Given the description of an element on the screen output the (x, y) to click on. 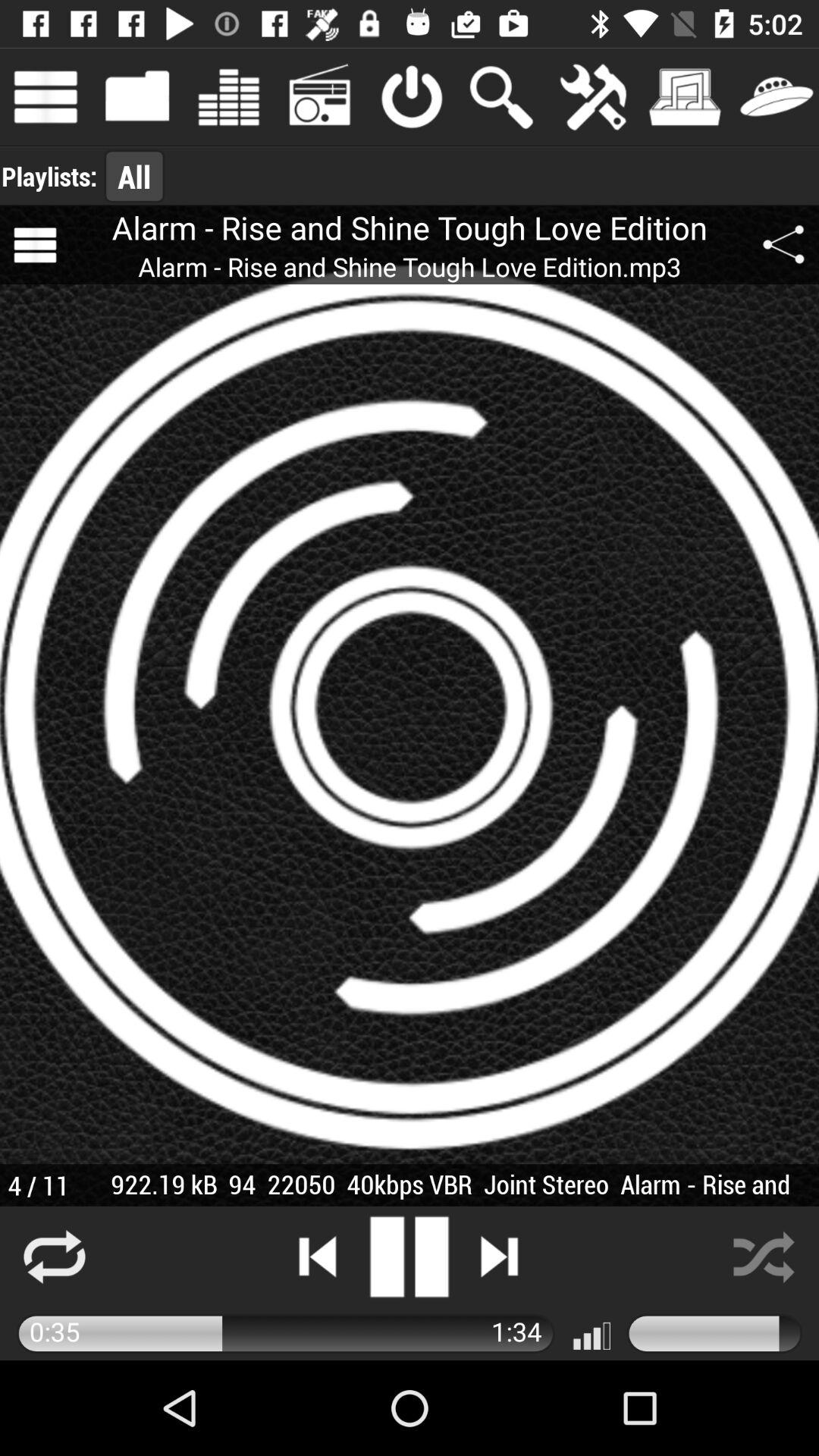
turn on the   all (134, 176)
